Given the description of an element on the screen output the (x, y) to click on. 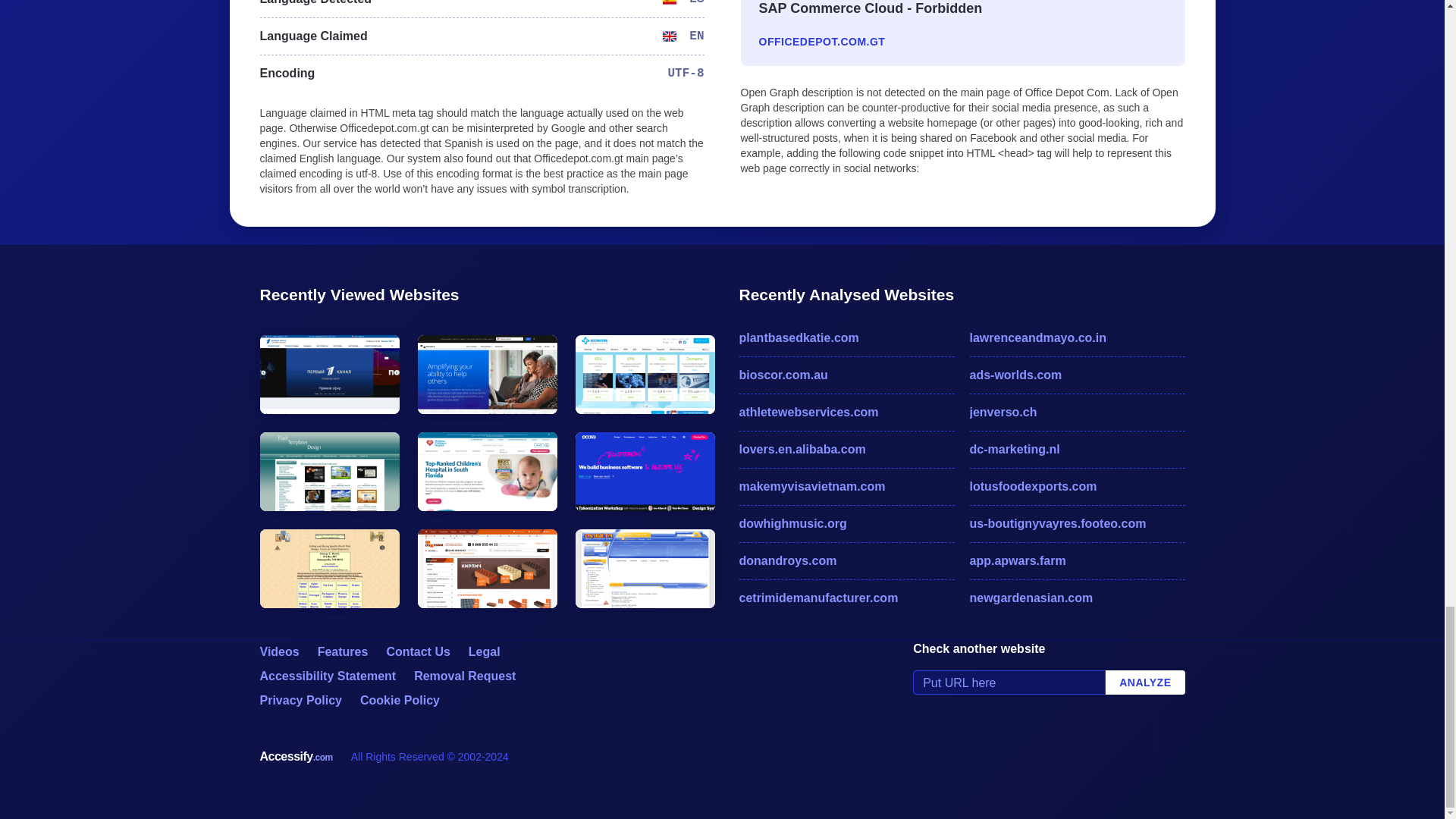
lovers.en.alibaba.com (845, 449)
us-boutignyvayres.footeo.com (1077, 524)
ads-worlds.com (1077, 375)
lawrenceandmayo.co.in (1077, 338)
app.apwars.farm (1077, 561)
jenverso.ch (1077, 412)
makemyvisavietnam.com (845, 486)
lotusfoodexports.com (1077, 486)
newgardenasian.com (1077, 597)
